Given the description of an element on the screen output the (x, y) to click on. 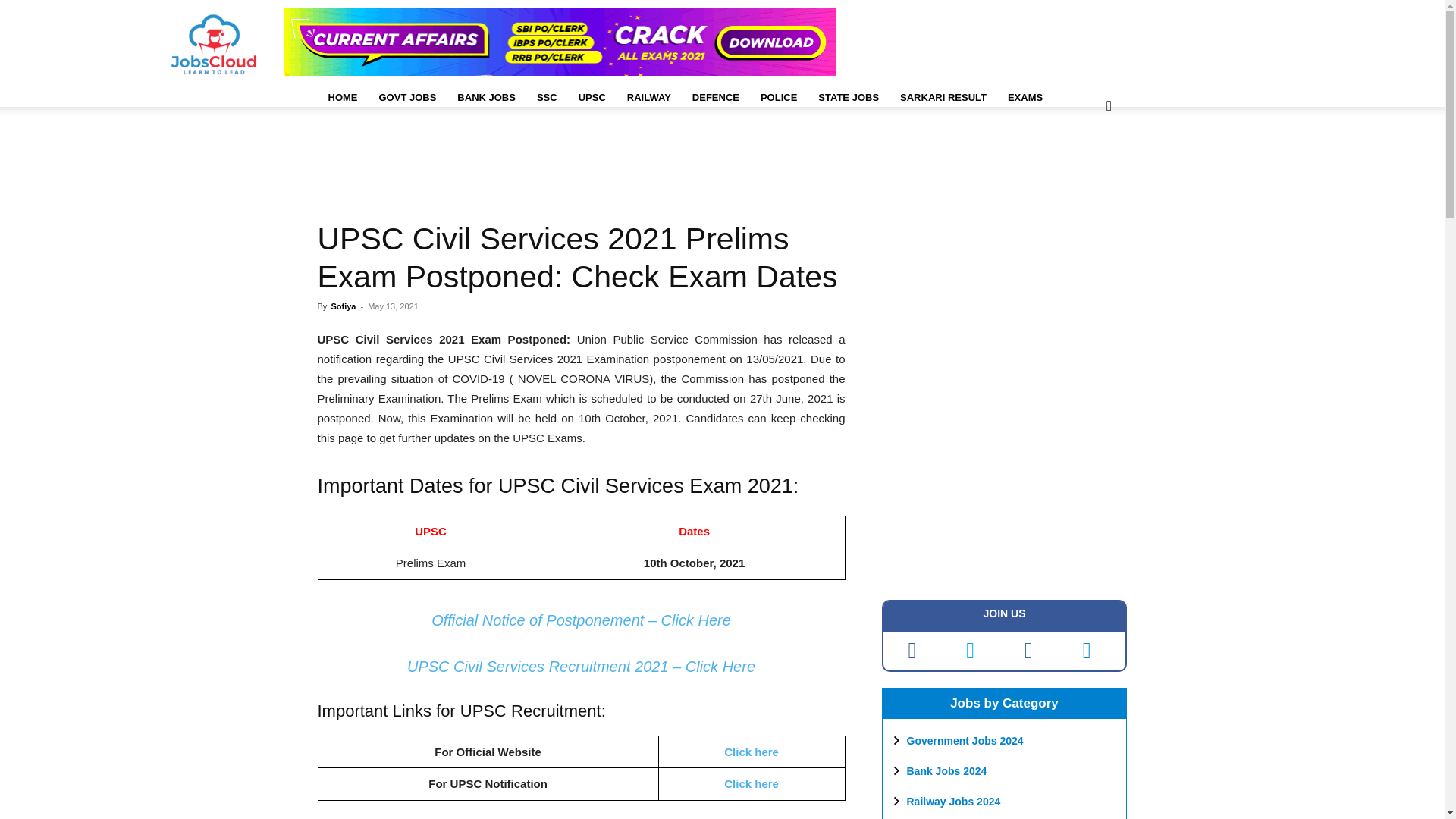
JobsCloud (212, 44)
